Given the description of an element on the screen output the (x, y) to click on. 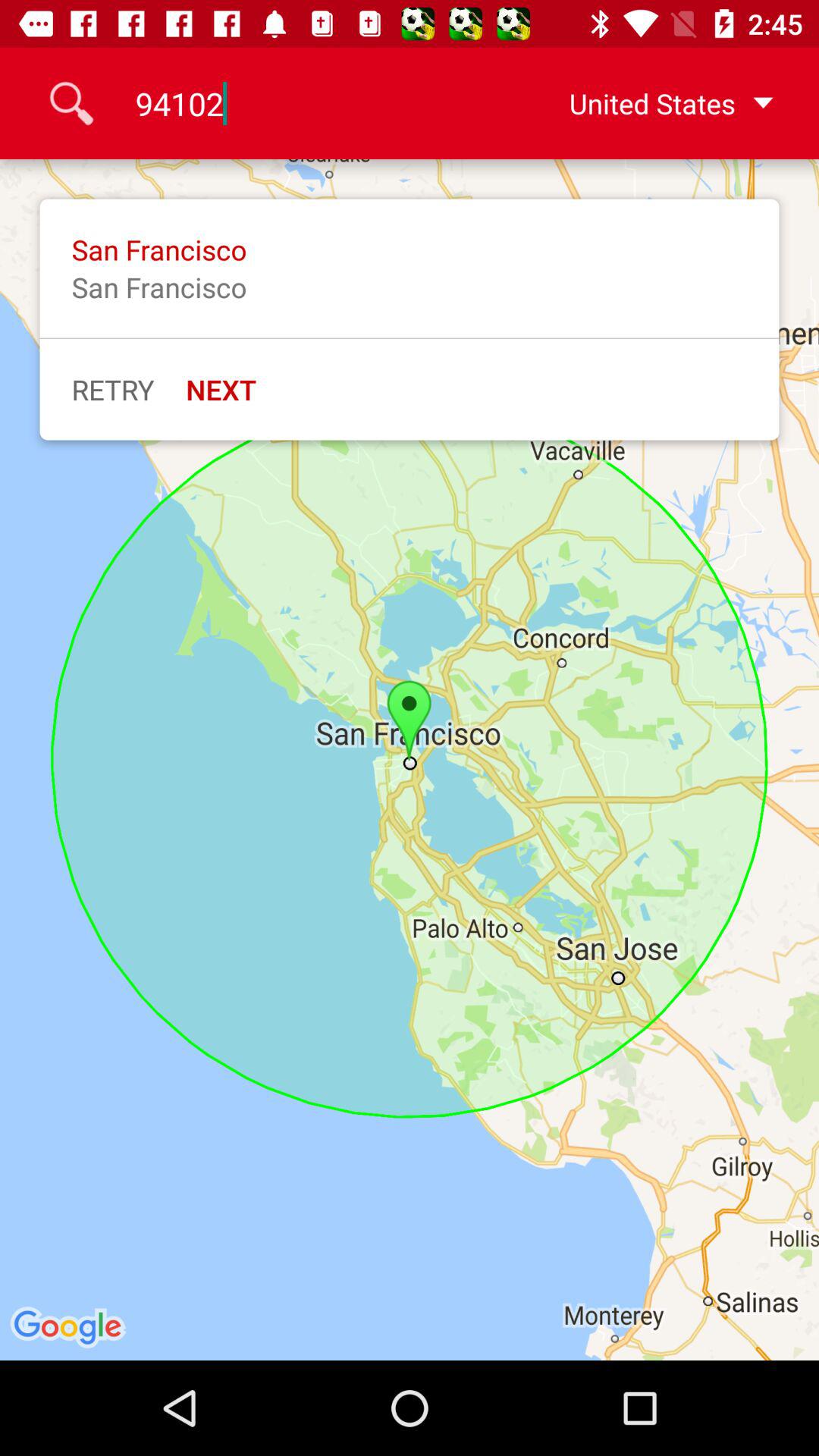
press icon next to the united states (309, 103)
